Given the description of an element on the screen output the (x, y) to click on. 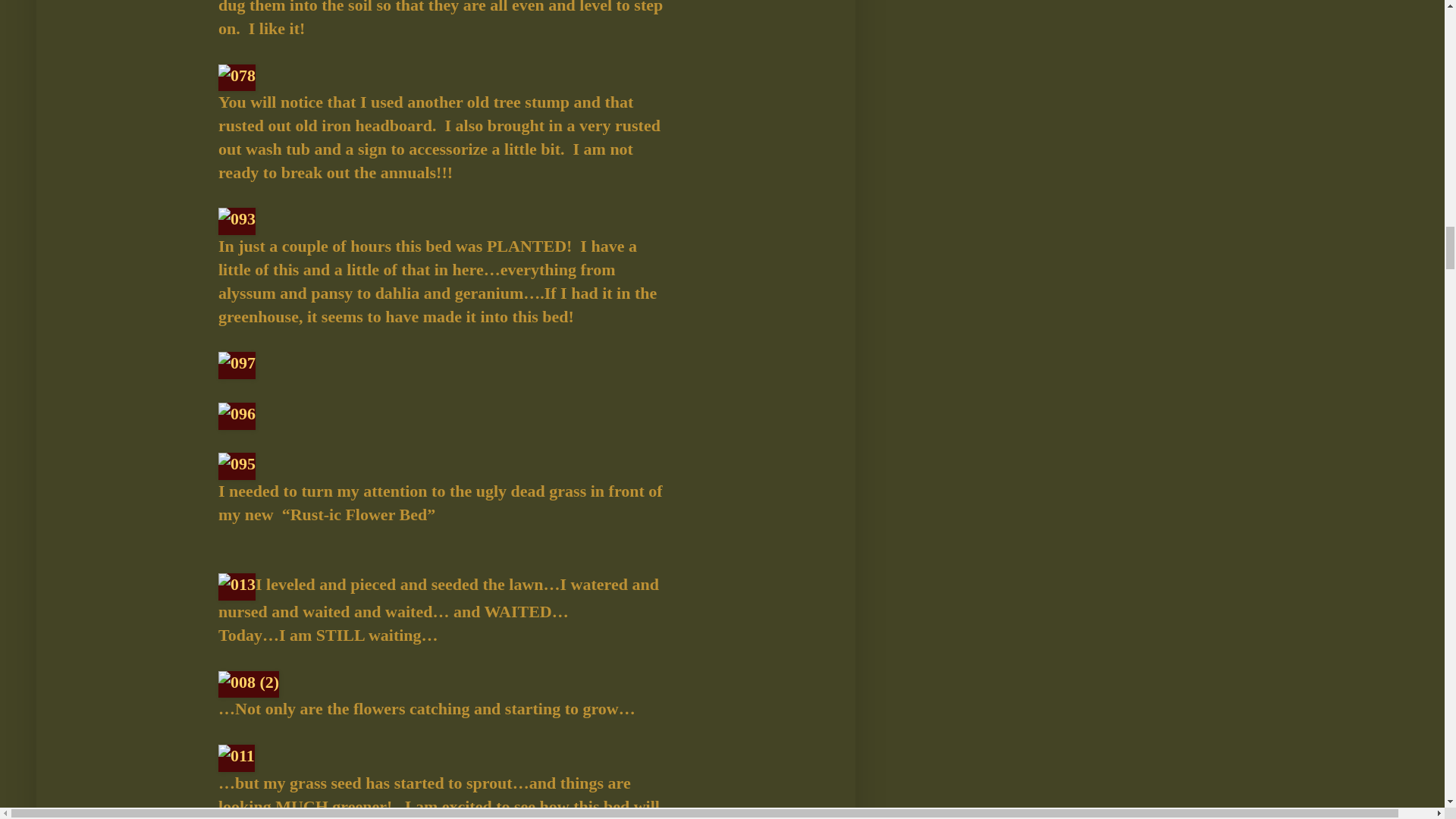
093 (237, 221)
078 (237, 77)
